Given the description of an element on the screen output the (x, y) to click on. 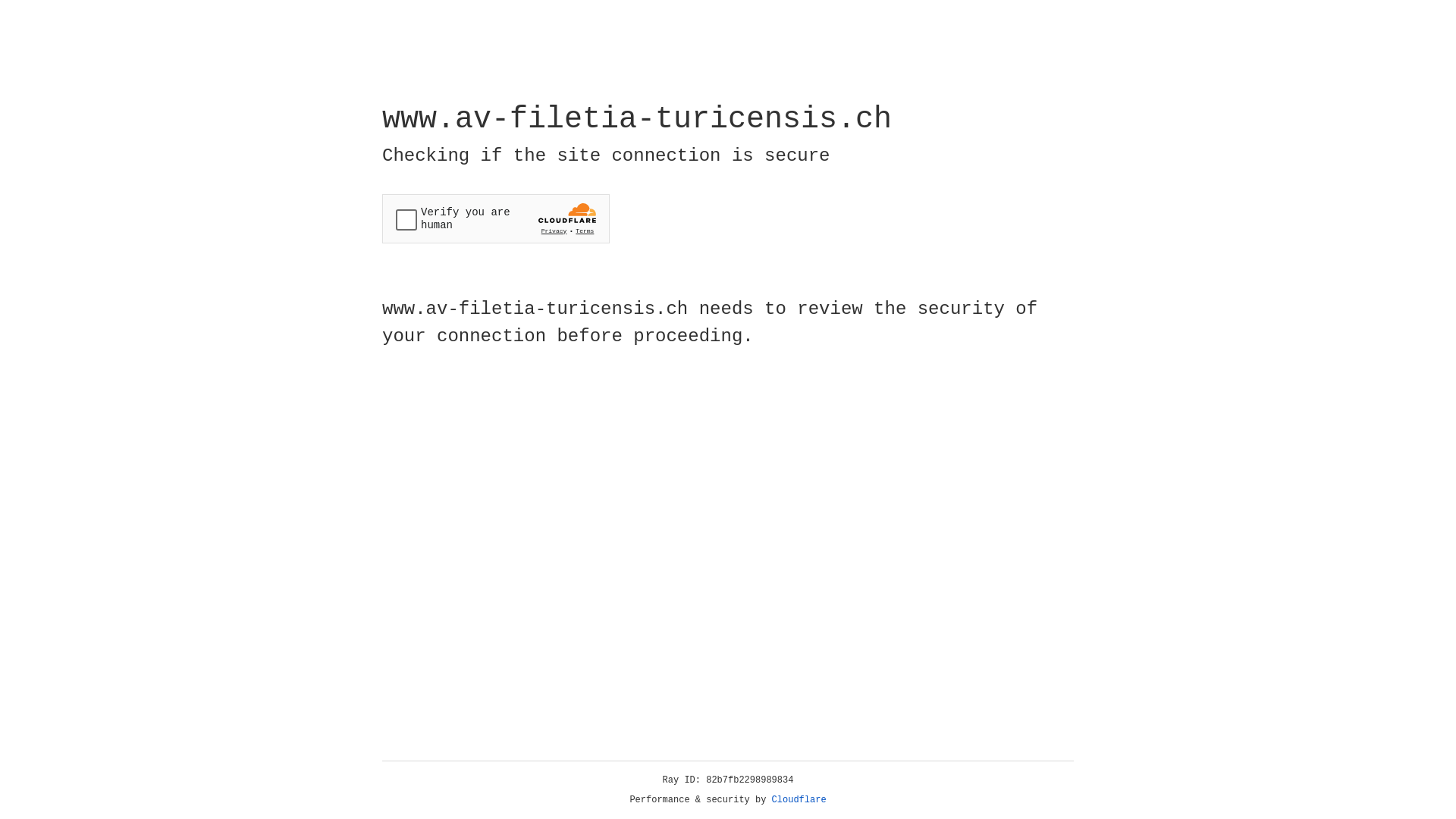
Widget containing a Cloudflare security challenge Element type: hover (495, 218)
Cloudflare Element type: text (798, 799)
